Given the description of an element on the screen output the (x, y) to click on. 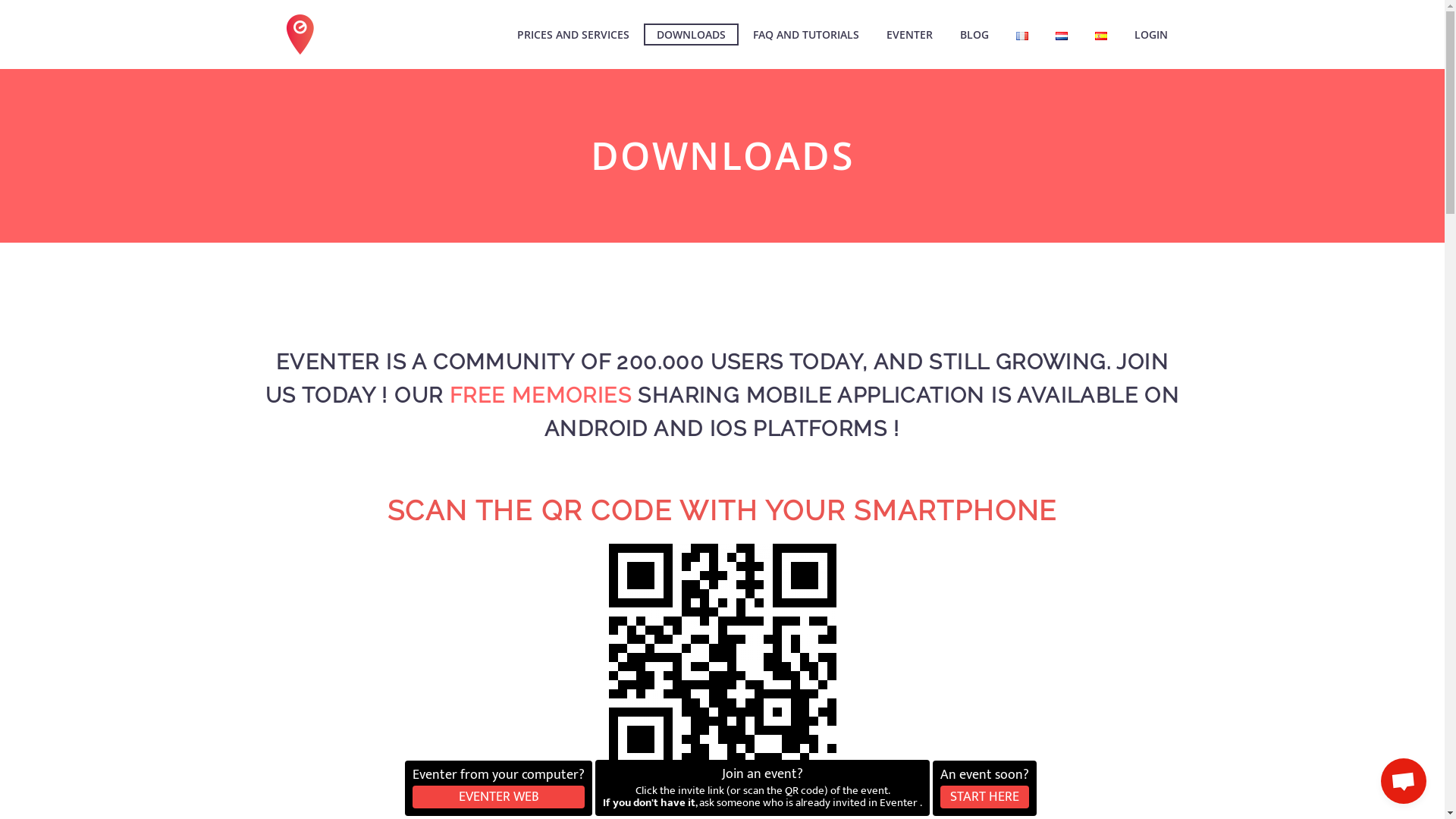
FAQ AND TUTORIALS Element type: text (805, 34)
BLOG Element type: text (973, 34)
DOWNLOADS Element type: text (690, 34)
EVENTER WEB Element type: text (498, 796)
MEMORIES Element type: text (571, 394)
PRICES AND SERVICES Element type: text (572, 34)
START HERE Element type: text (984, 796)
FREE Element type: text (477, 394)
EVENTER Element type: text (909, 34)
LOGIN Element type: text (1150, 34)
